Given the description of an element on the screen output the (x, y) to click on. 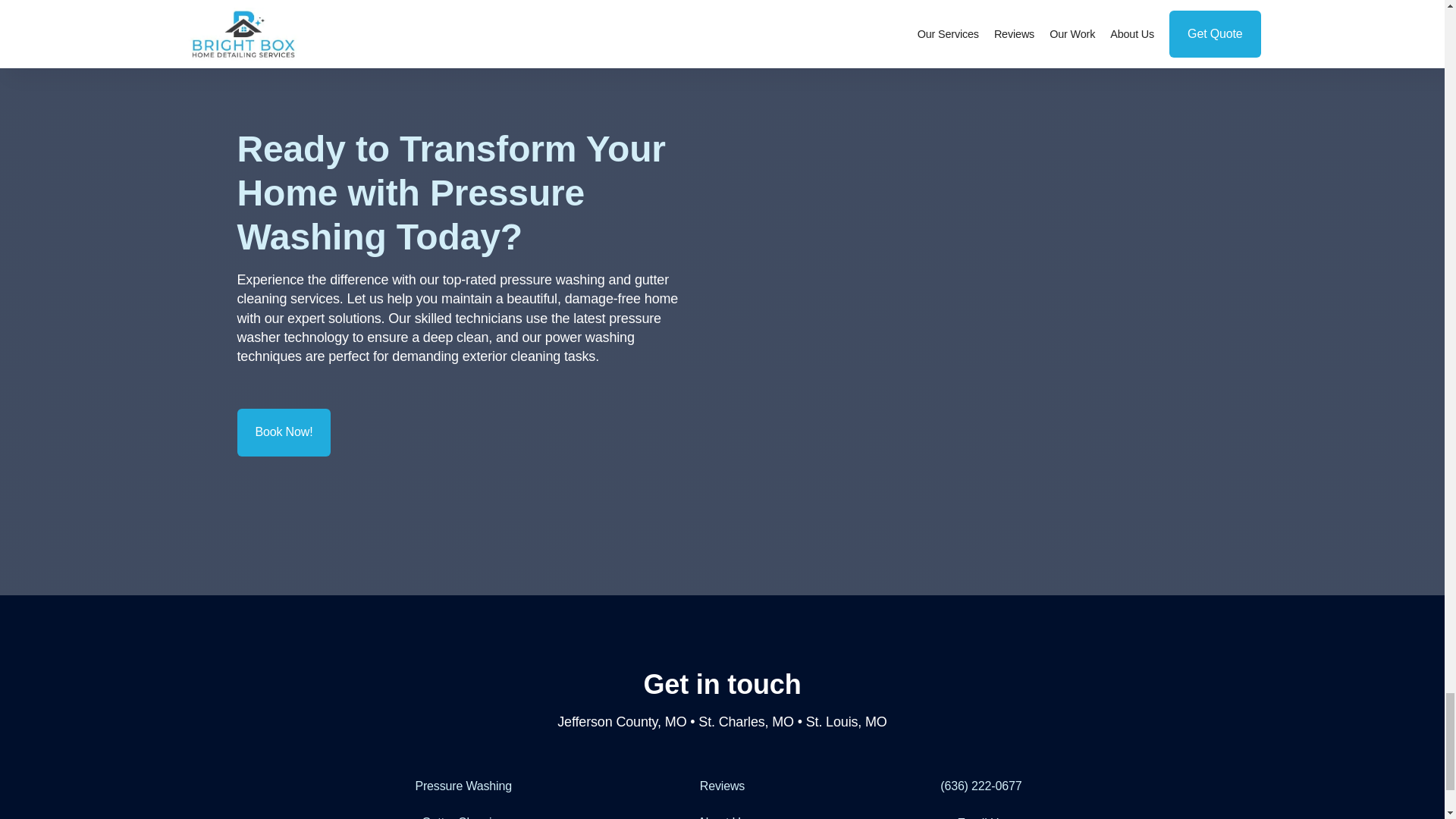
Reviews (722, 786)
Pressure Washing (463, 787)
Gutter Cleaning (462, 812)
Book Now! (282, 431)
Email Us (980, 812)
About Us (722, 811)
